Given the description of an element on the screen output the (x, y) to click on. 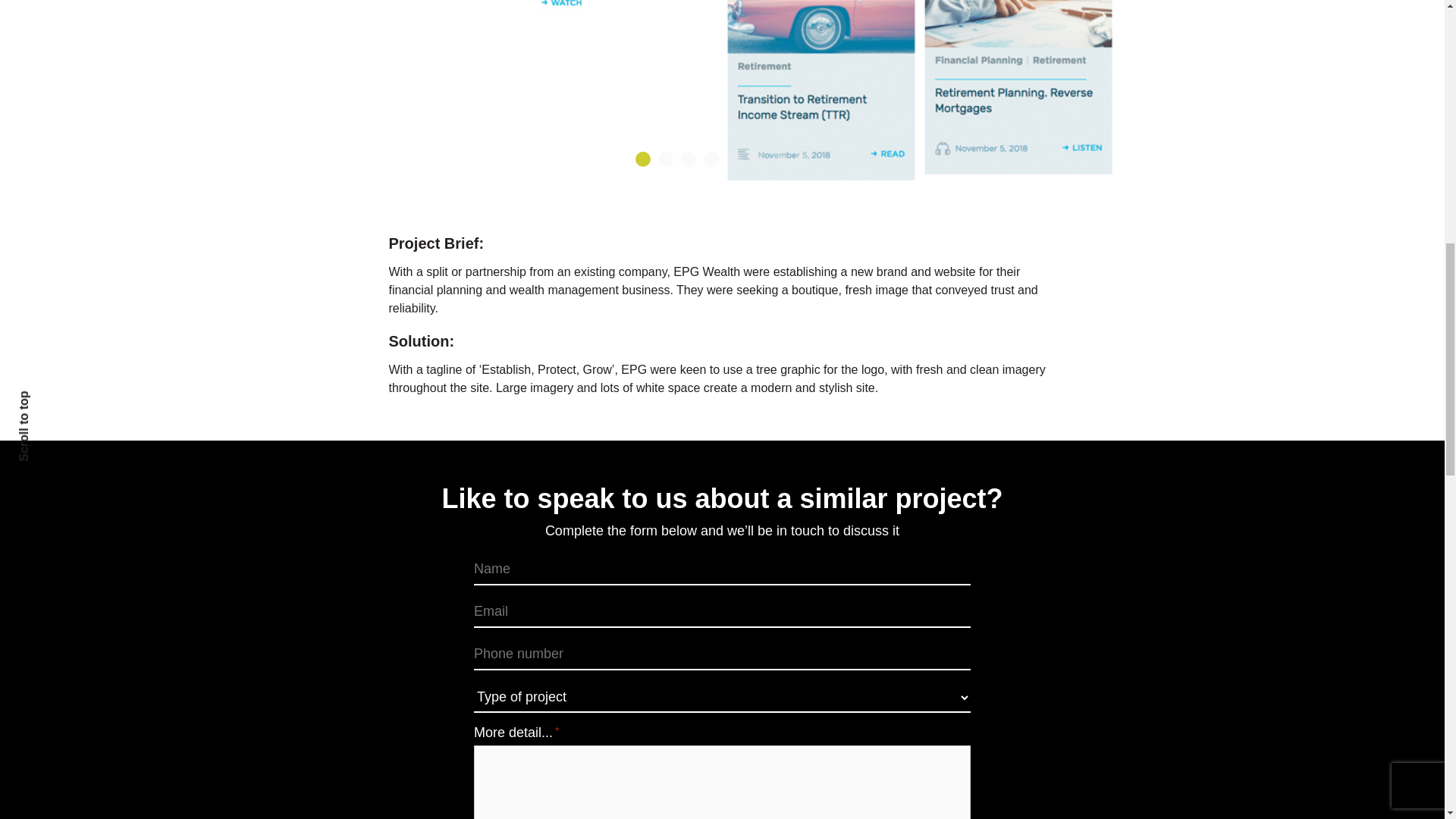
1 (642, 159)
2 (665, 159)
5 (733, 159)
3 (688, 159)
6 (756, 159)
4 (711, 159)
